Given the description of an element on the screen output the (x, y) to click on. 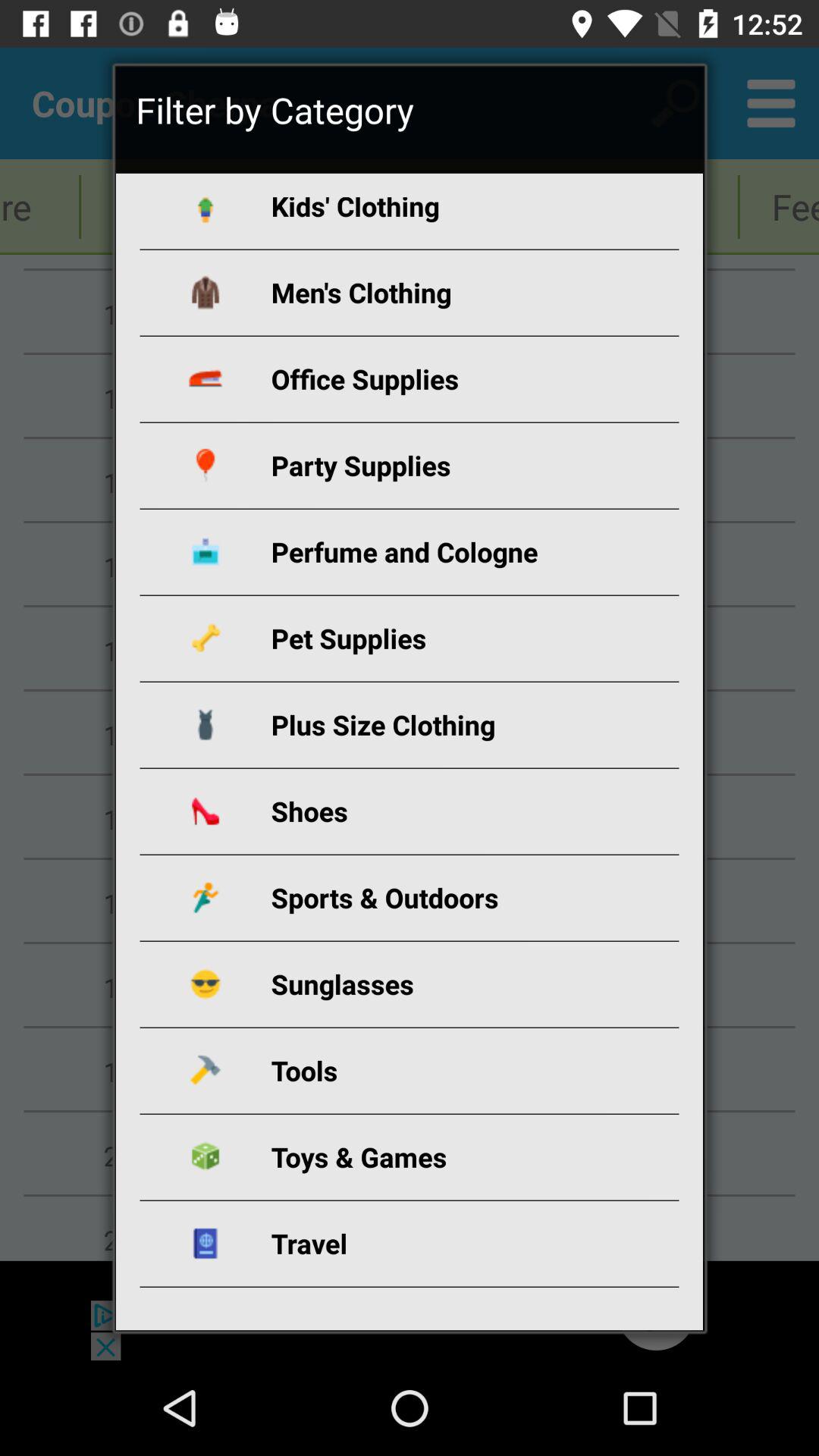
press icon above toys & games (427, 1070)
